Given the description of an element on the screen output the (x, y) to click on. 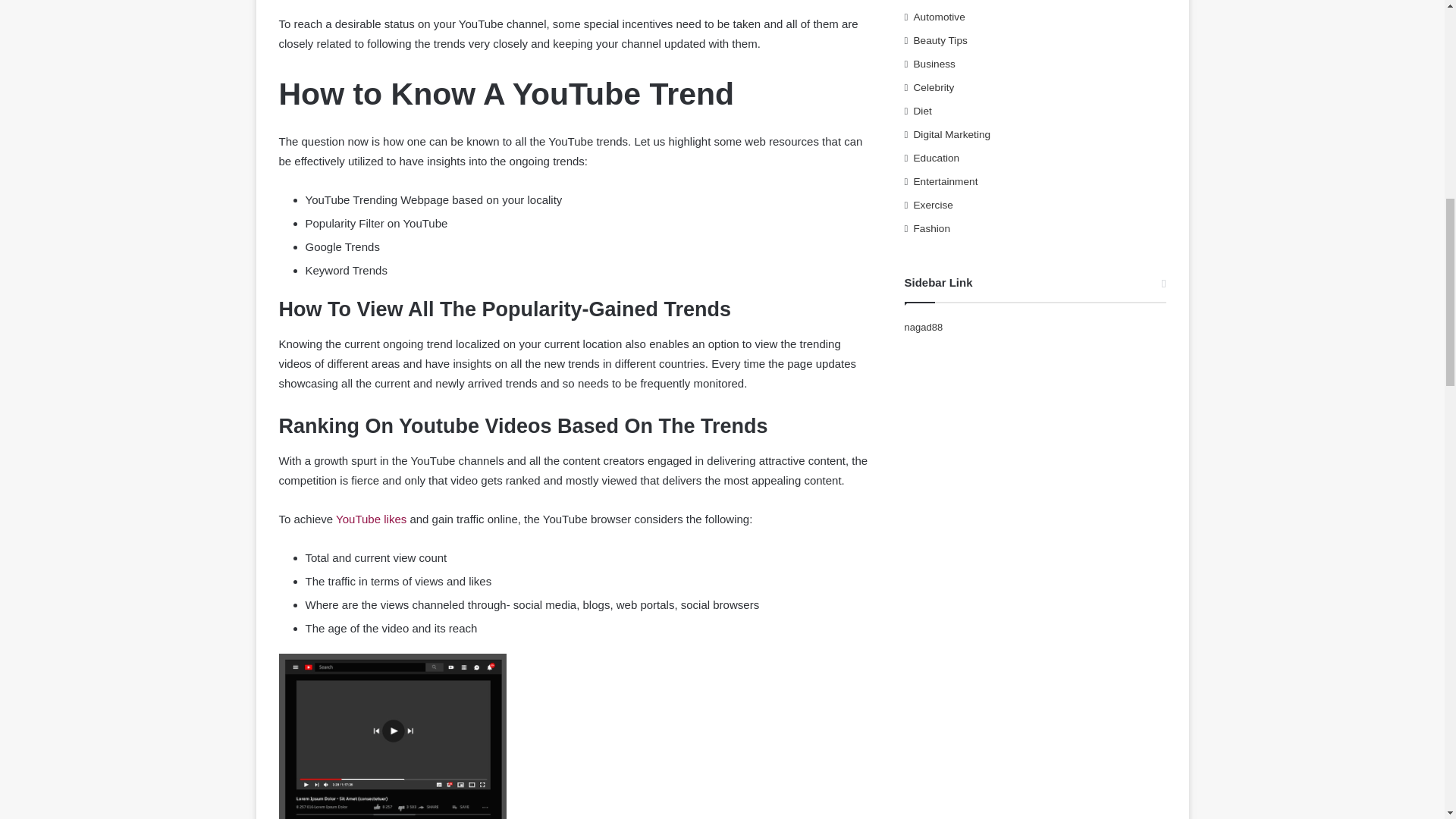
YouTube likes (371, 518)
